Given the description of an element on the screen output the (x, y) to click on. 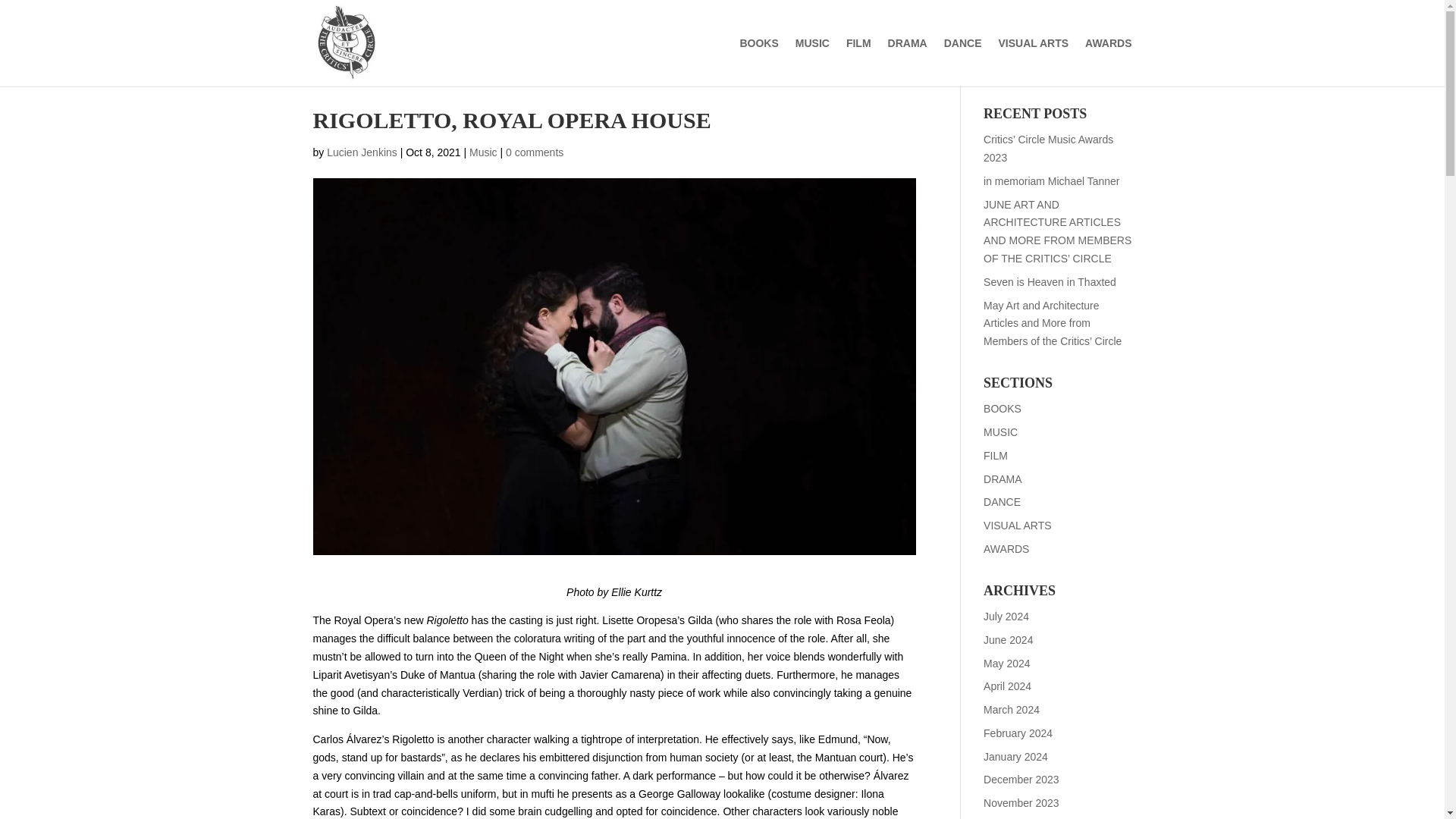
VISUAL ARTS (1017, 525)
December 2023 (1021, 779)
May 2024 (1006, 662)
FILM (995, 455)
AWARDS (1006, 548)
DRAMA (1003, 479)
February 2024 (1018, 733)
MUSIC (1000, 431)
July 2024 (1006, 616)
DANCE (1002, 501)
